Given the description of an element on the screen output the (x, y) to click on. 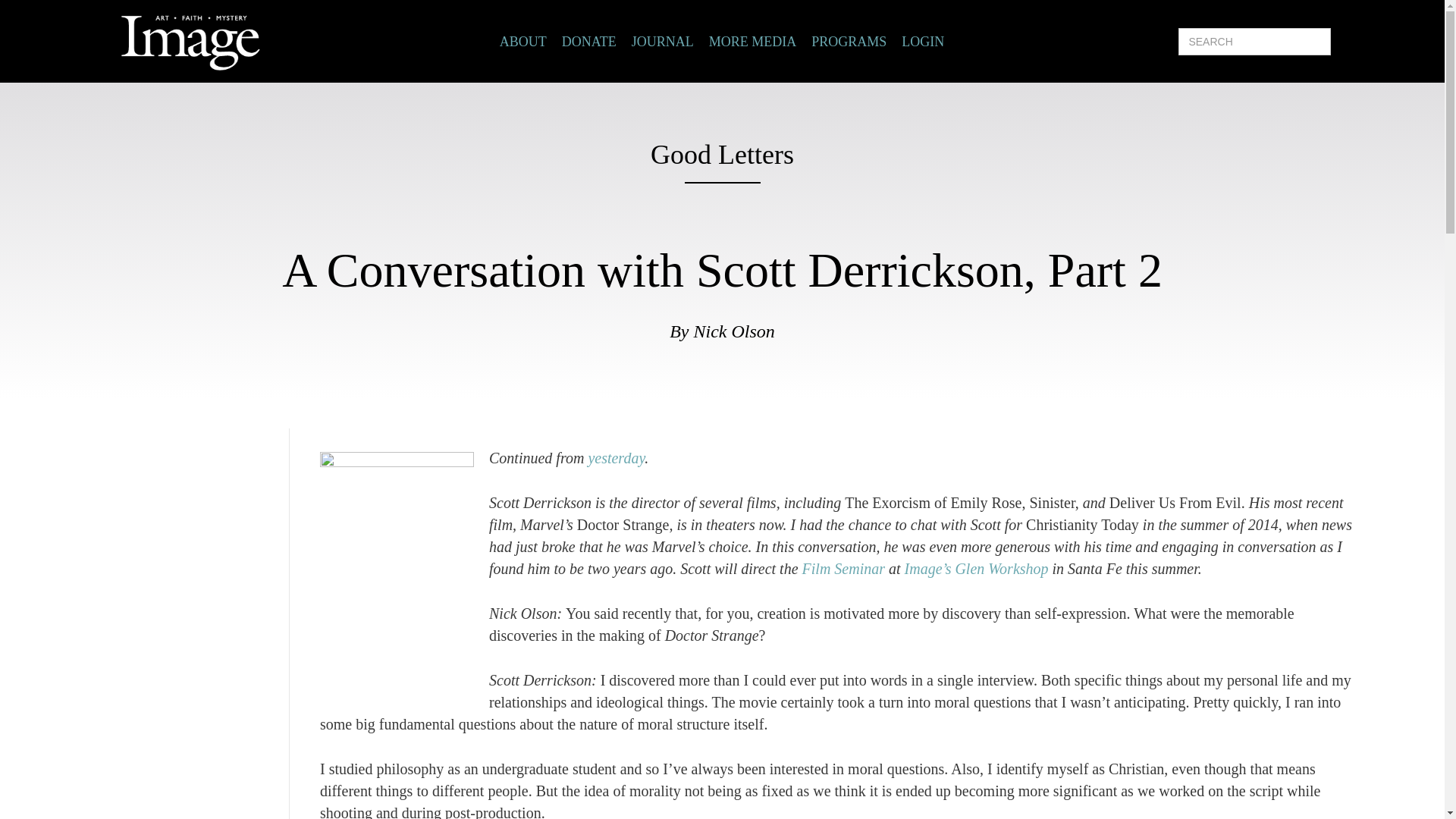
ABOUT (523, 41)
MORE MEDIA (752, 41)
JOURNAL (662, 41)
DONATE (588, 41)
